Given the description of an element on the screen output the (x, y) to click on. 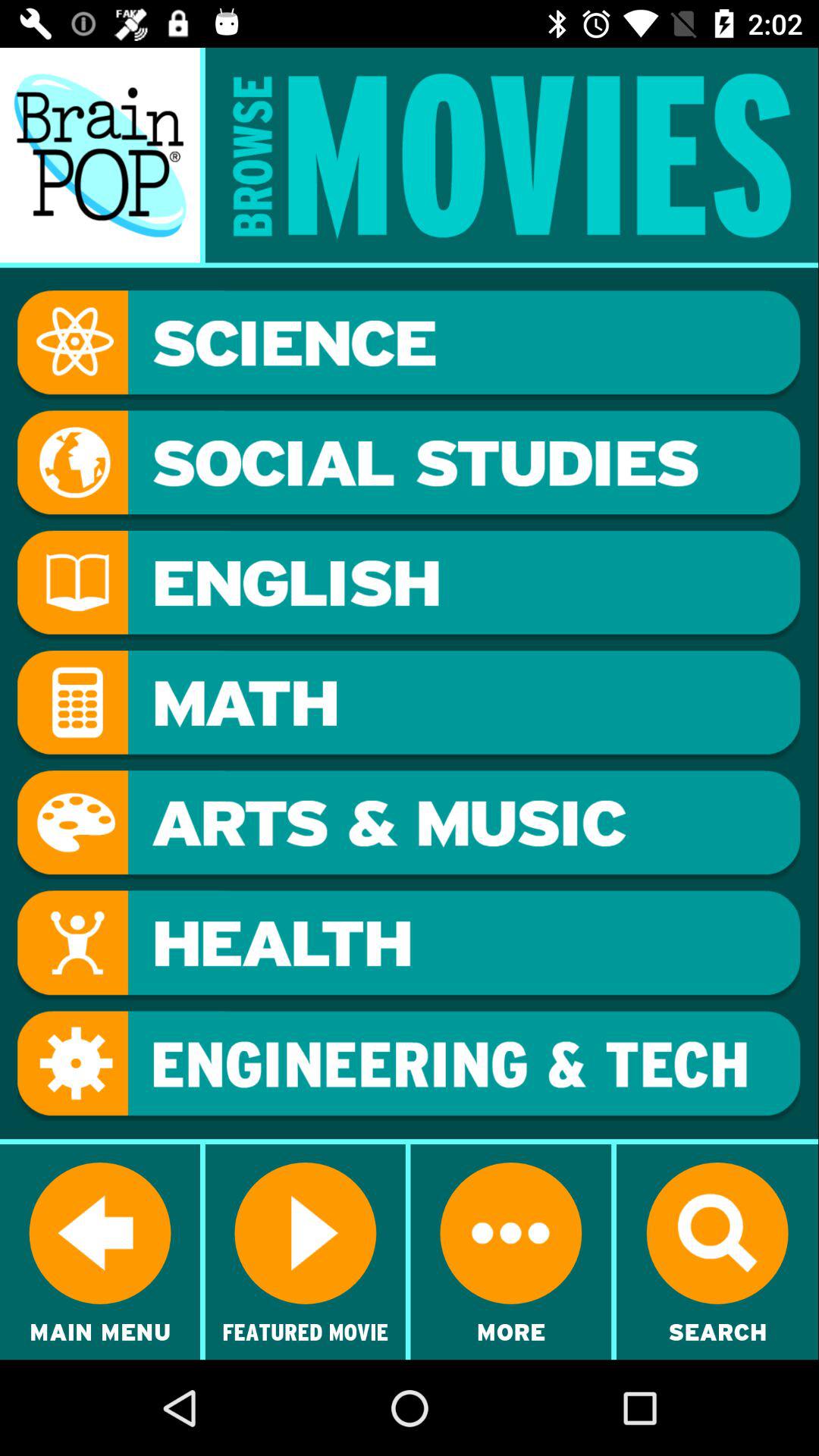
a flashing bar to select movie catagory (408, 1066)
